Given the description of an element on the screen output the (x, y) to click on. 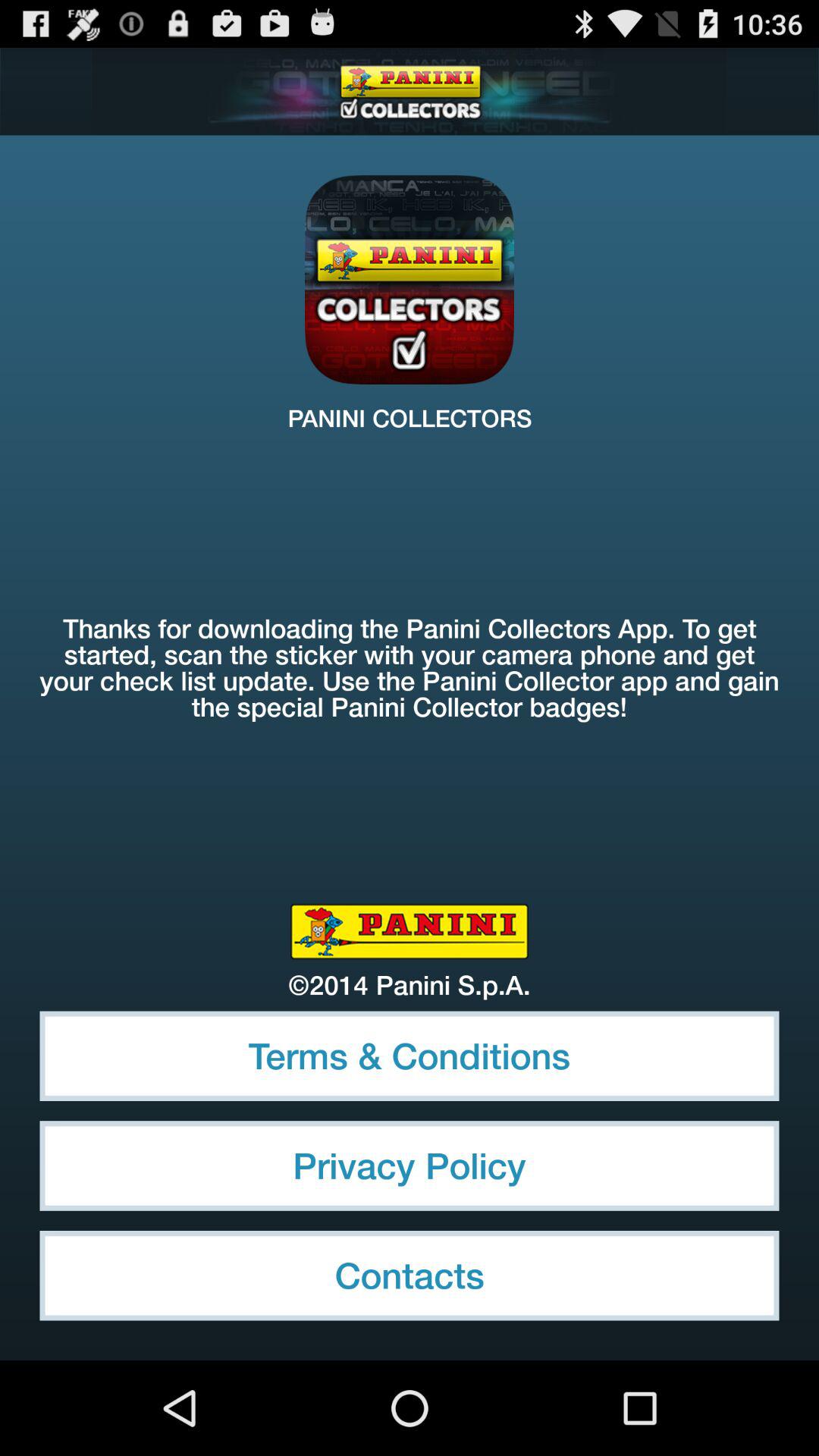
swipe until the terms & conditions (409, 1056)
